Given the description of an element on the screen output the (x, y) to click on. 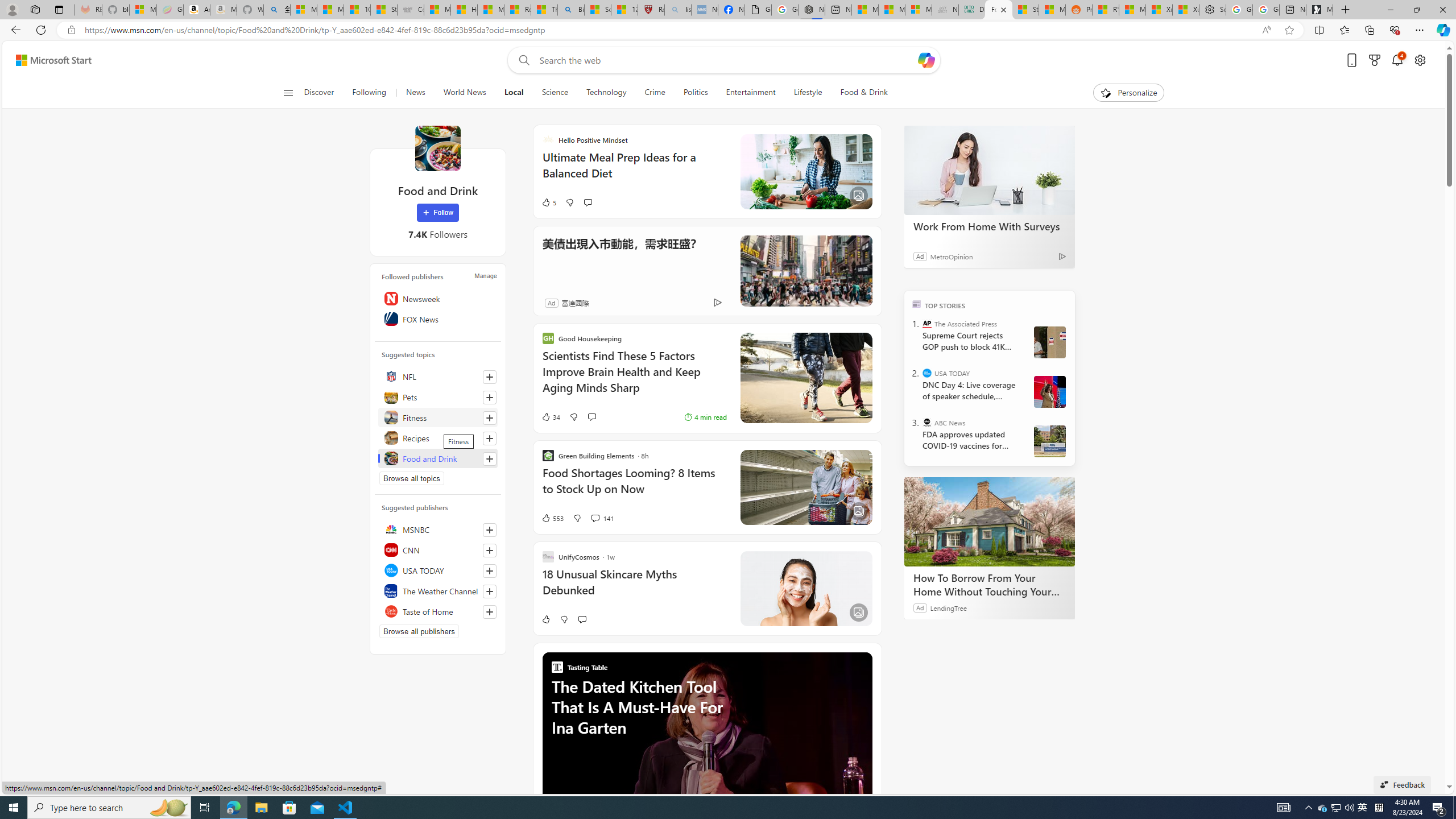
18 Unusual Skincare Myths Debunked (633, 587)
Science - MSN (597, 9)
Combat Siege (411, 9)
Technology (605, 92)
